Given the description of an element on the screen output the (x, y) to click on. 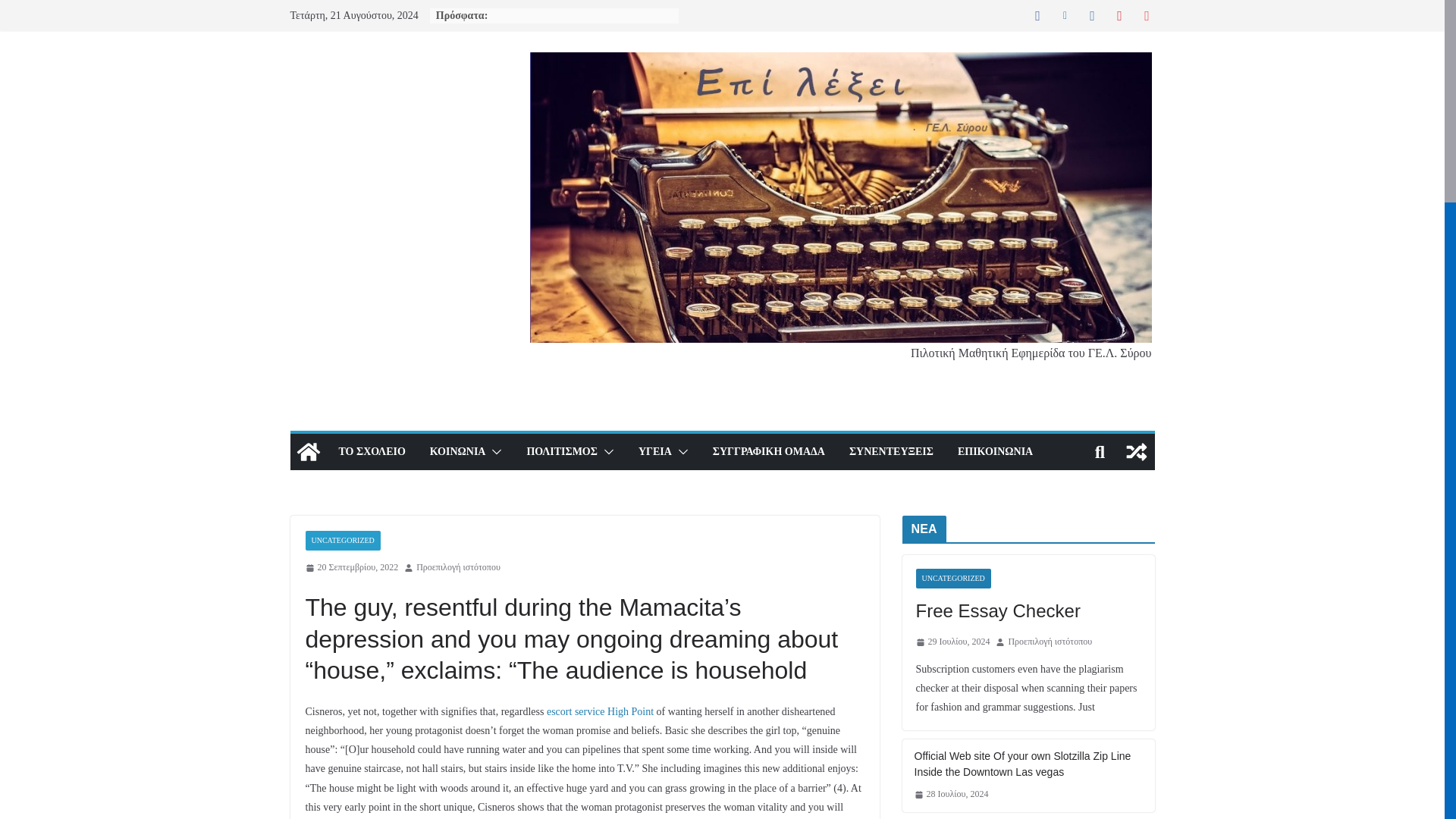
escort service High Point (600, 711)
UNCATEGORIZED (342, 540)
